Given the description of an element on the screen output the (x, y) to click on. 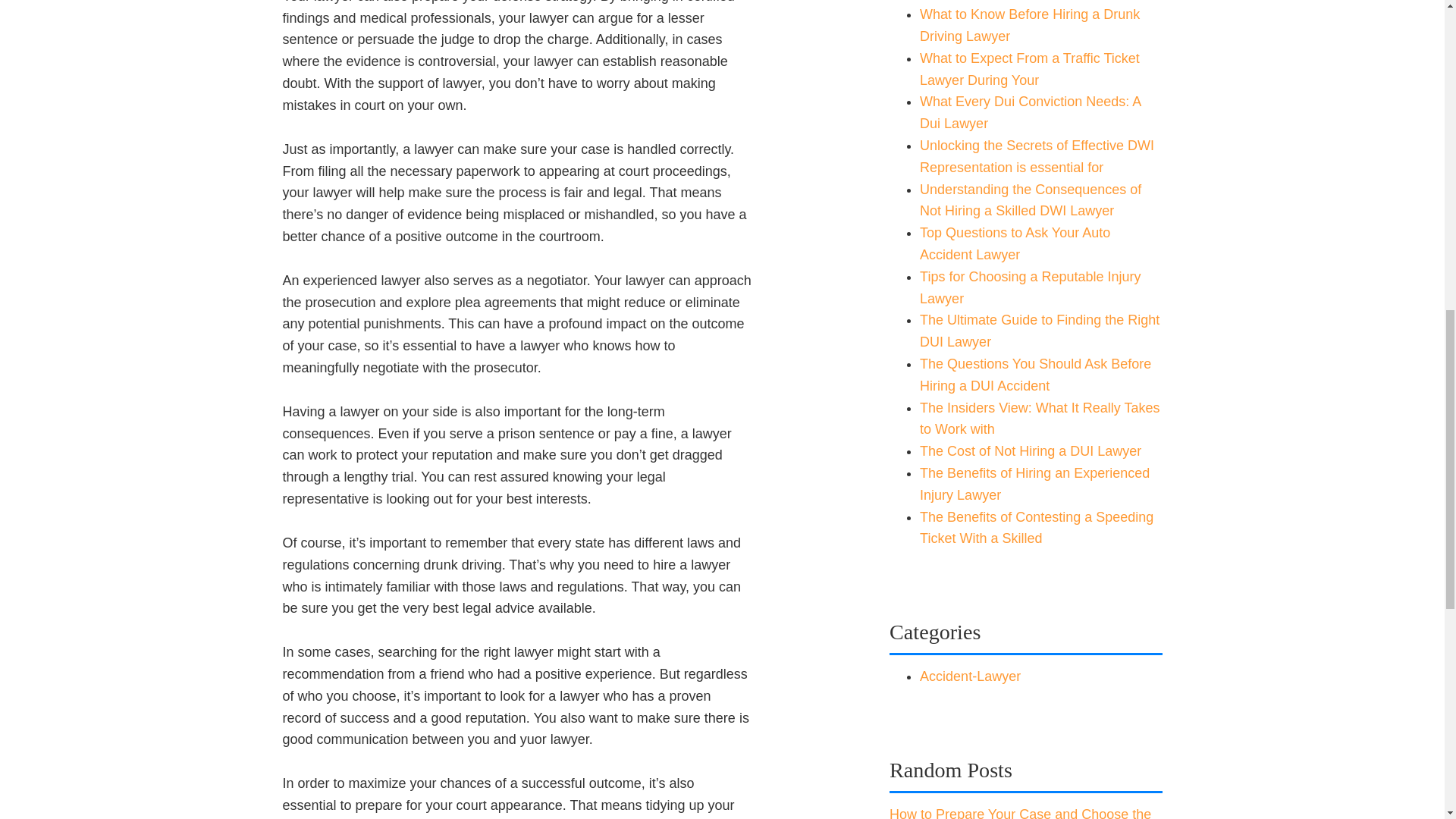
Tips for Choosing a Reputable Injury Lawyer (1030, 287)
What to Expect From a Traffic Ticket Lawyer During Your (1030, 68)
The Ultimate Guide to Finding the Right DUI Lawyer (1039, 330)
Top Questions to Ask Your Auto Accident Lawyer (1014, 243)
The Benefits of Hiring an Experienced Injury Lawyer (1035, 484)
The Benefits of Contesting a Speeding Ticket With a Skilled (1036, 528)
How to Prepare Your Case and Choose the Right DUI (1020, 812)
Accident-Lawyer (970, 676)
The Cost of Not Hiring a DUI Lawyer (1030, 450)
What to Know Before Hiring a Drunk Driving Lawyer (1030, 25)
The Insiders View: What It Really Takes to Work with (1039, 418)
The Questions You Should Ask Before Hiring a DUI Accident (1035, 374)
